Given the description of an element on the screen output the (x, y) to click on. 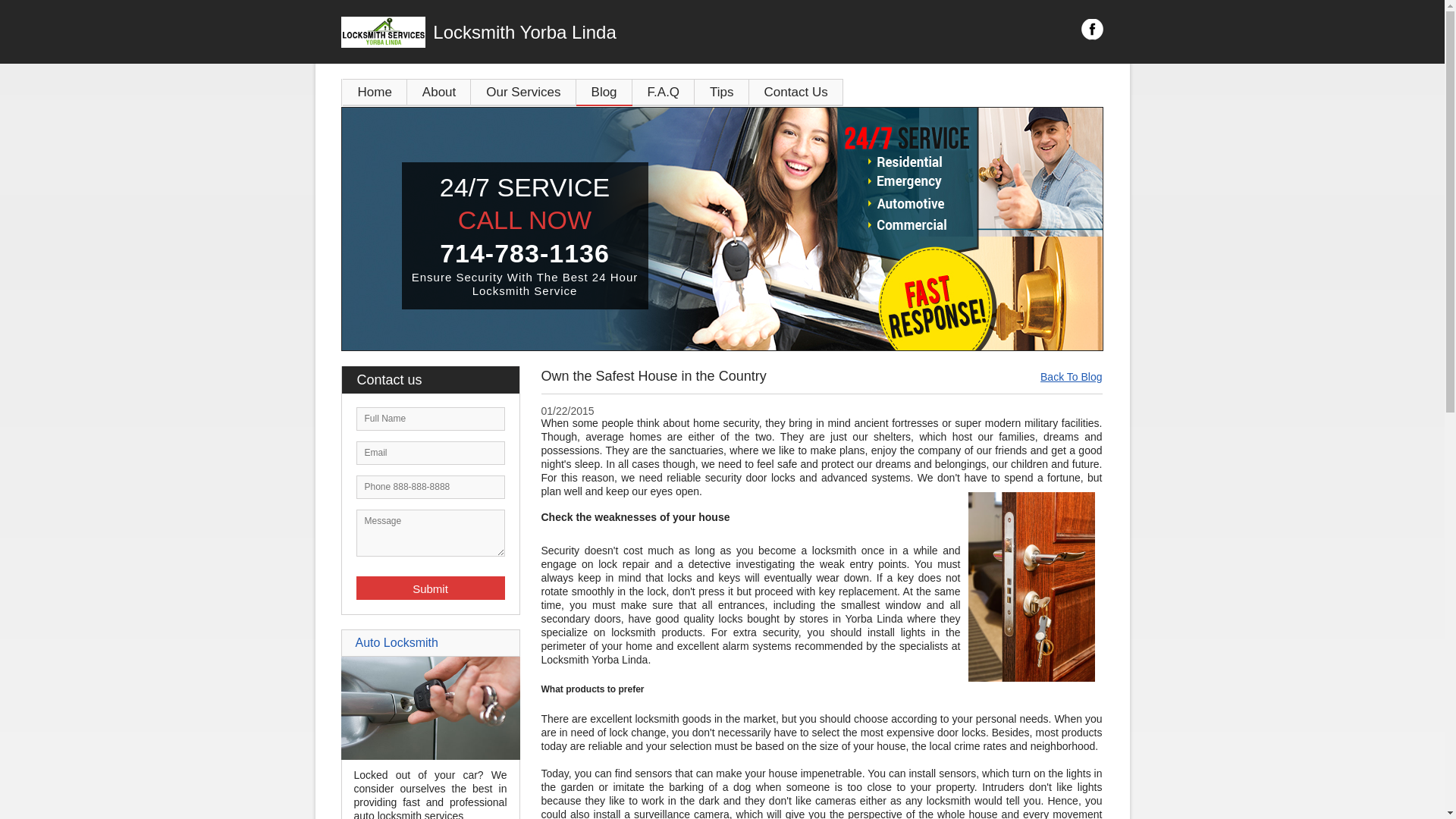
Auto Locksmith (429, 756)
Submit (430, 587)
Tips (721, 91)
Facebook (1092, 29)
Auto Locksmith (396, 642)
Home (374, 91)
Back To Blog (1071, 376)
Submit (430, 587)
Blog (603, 91)
Locksmith Yorba Linda (606, 32)
About (438, 91)
Contact Us (796, 91)
F.A.Q (663, 91)
Locksmith Yorba Linda (606, 32)
Contact us (437, 379)
